Given the description of an element on the screen output the (x, y) to click on. 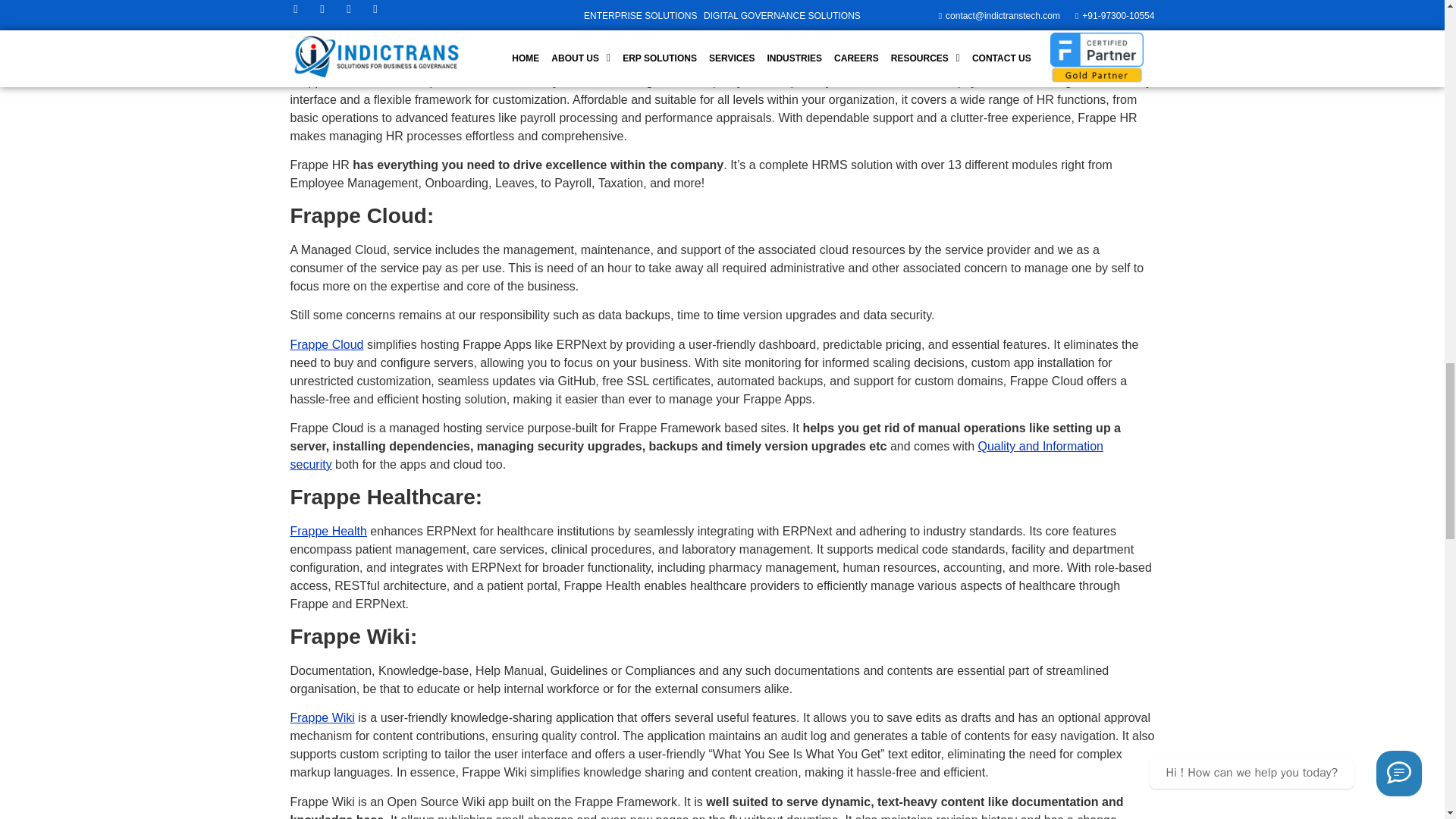
Frappe Wiki (321, 717)
Frappe Cloud (325, 344)
Frappe Health (327, 530)
Frappe HR (319, 81)
Quality and Information security (695, 454)
